Given the description of an element on the screen output the (x, y) to click on. 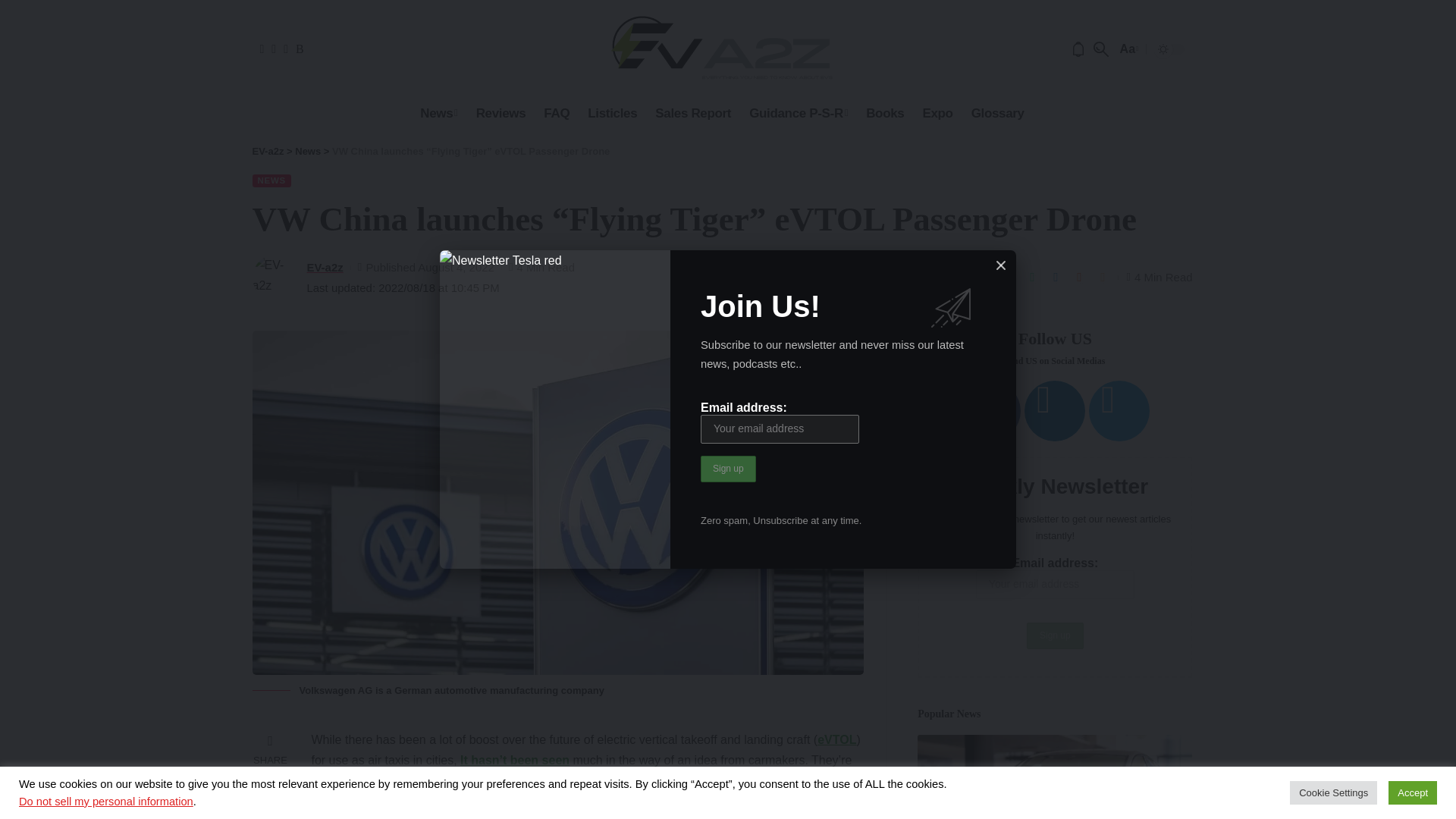
EV-a2z (721, 48)
Go to the News Category archives. (307, 151)
Aa (1127, 48)
Sign up (1054, 635)
Audi contemplates first US factory amid new EV tax credits (1054, 776)
News (437, 113)
Sign up (727, 468)
Sign up (727, 468)
Go to EV-a2z. (267, 151)
